Given the description of an element on the screen output the (x, y) to click on. 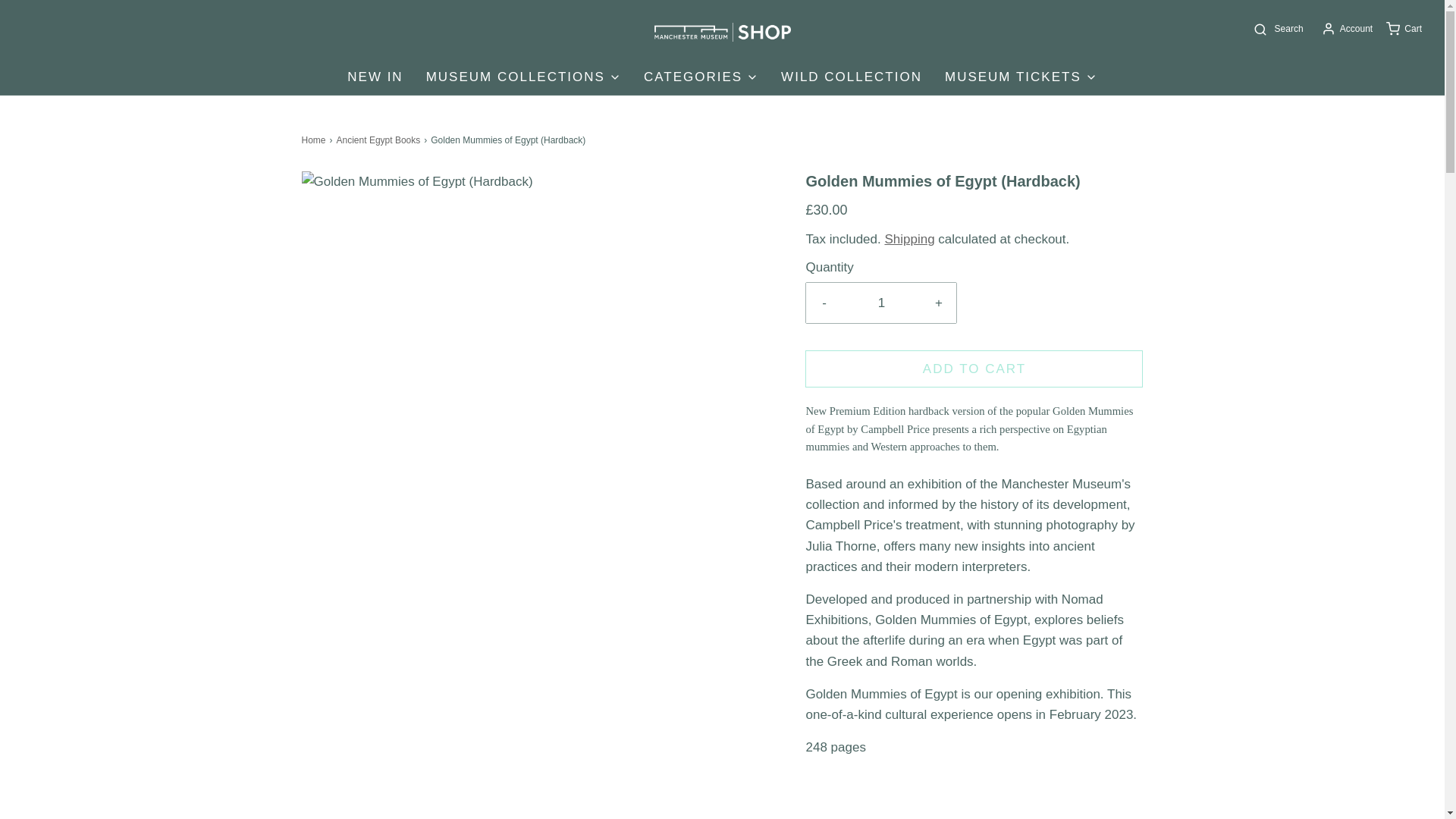
1 (881, 302)
Log in (1346, 29)
Back to the frontpage (315, 140)
Search (1276, 28)
Cart (1403, 29)
